Given the description of an element on the screen output the (x, y) to click on. 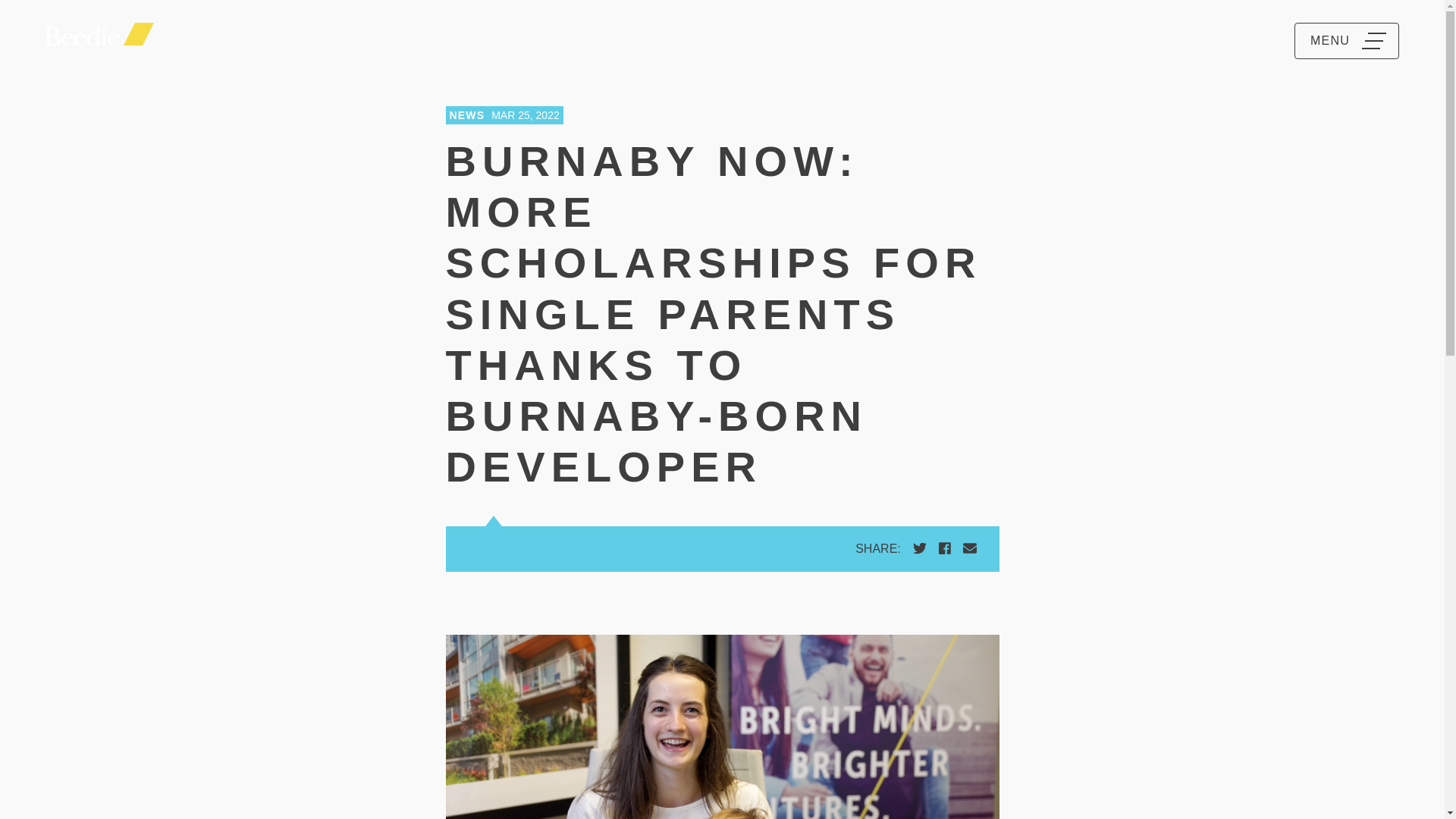
Share by Email (969, 548)
MENU (1346, 40)
